Given the description of an element on the screen output the (x, y) to click on. 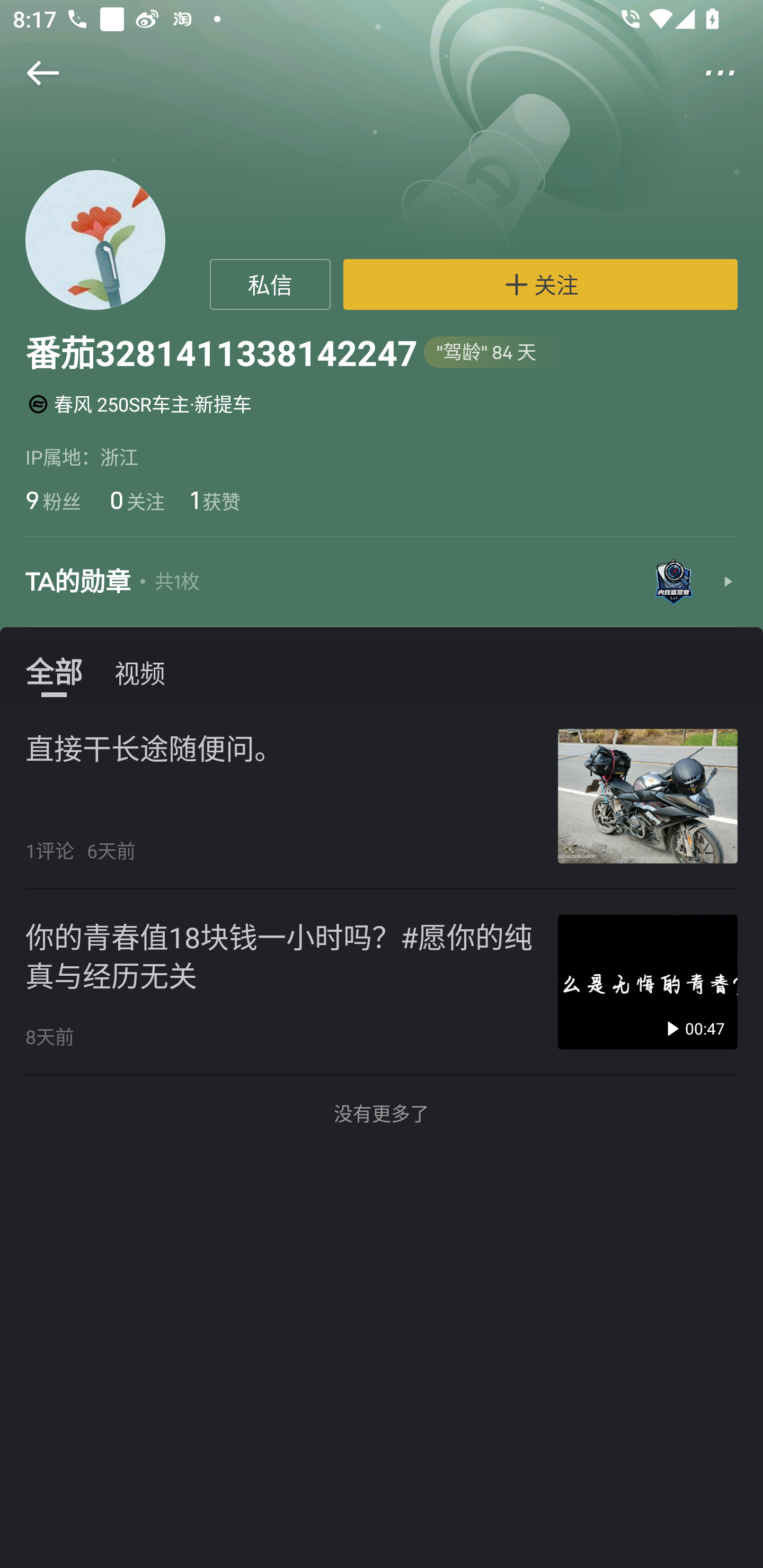
 (30, 72)
 (732, 72)
私信 (269, 284)
 关注 (540, 284)
"驾龄" 84 天 (495, 352)
9 粉丝 (52, 499)
0 关注 (135, 499)
1 获赞 (214, 499)
TA的勋章 共1枚  (381, 582)
全部 (53, 671)
视频 (139, 671)
直接干长途随便问。 1评论 6天前 (381, 796)
直接干长途随便问。 (154, 748)
你的青春值18块钱一小时吗？#愿你的纯真与经历无关 8天前  00:47 (381, 982)
